Given the description of an element on the screen output the (x, y) to click on. 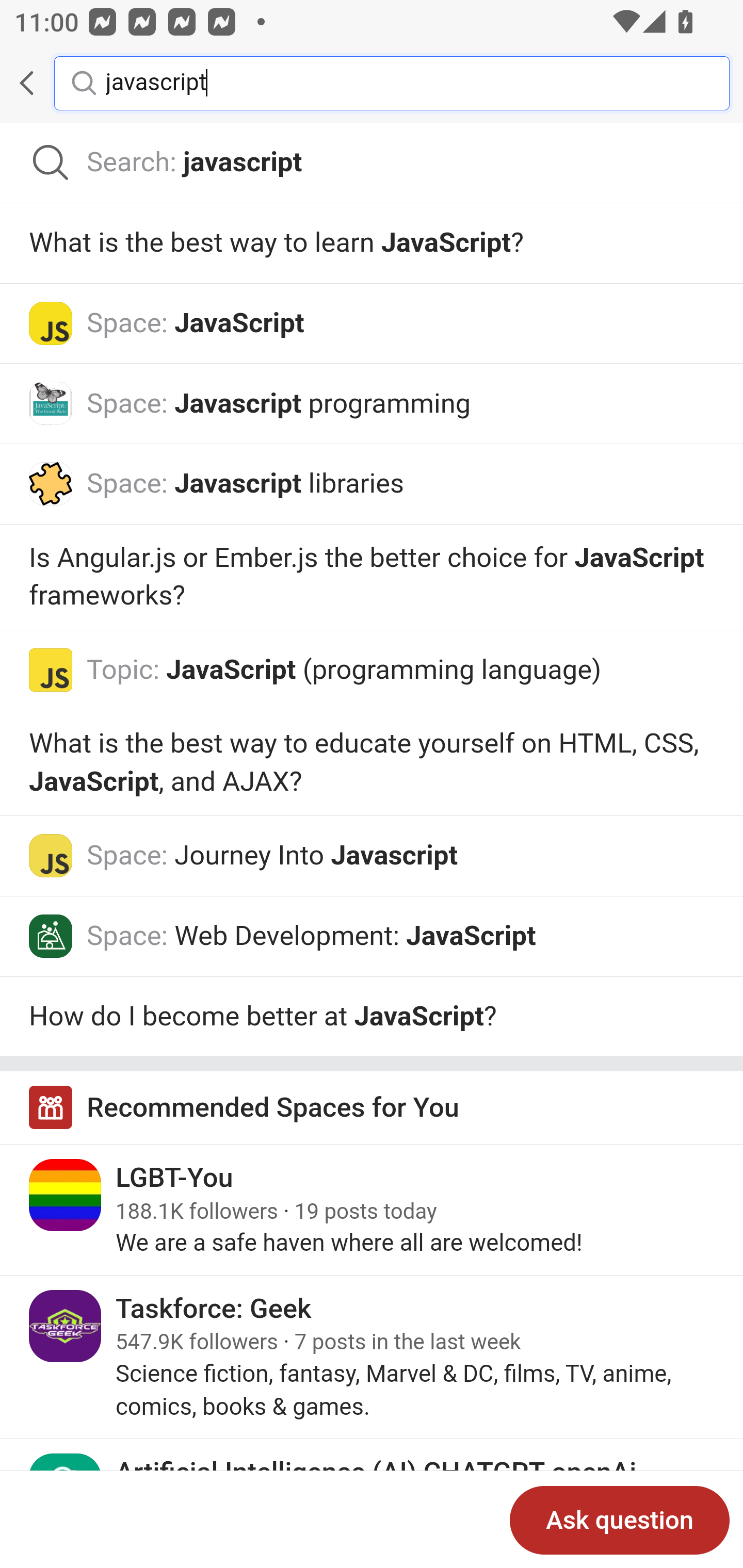
Me Home Search Add (371, 82)
javascript (402, 82)
Search: java (371, 162)
What is the best way to learn JavaScript? (371, 243)
Icon for JavaScript (50, 322)
Icon for Javascript programming (50, 403)
Icon for Javascript libraries (50, 483)
Icon for JavaScript (programming language) (50, 669)
Icon for Journey Into Javascript (50, 856)
Icon for Web Development: JavaScript (50, 936)
Icon for LGBT-You (65, 1194)
Icon for Taskforce: Geek (65, 1325)
